Given the description of an element on the screen output the (x, y) to click on. 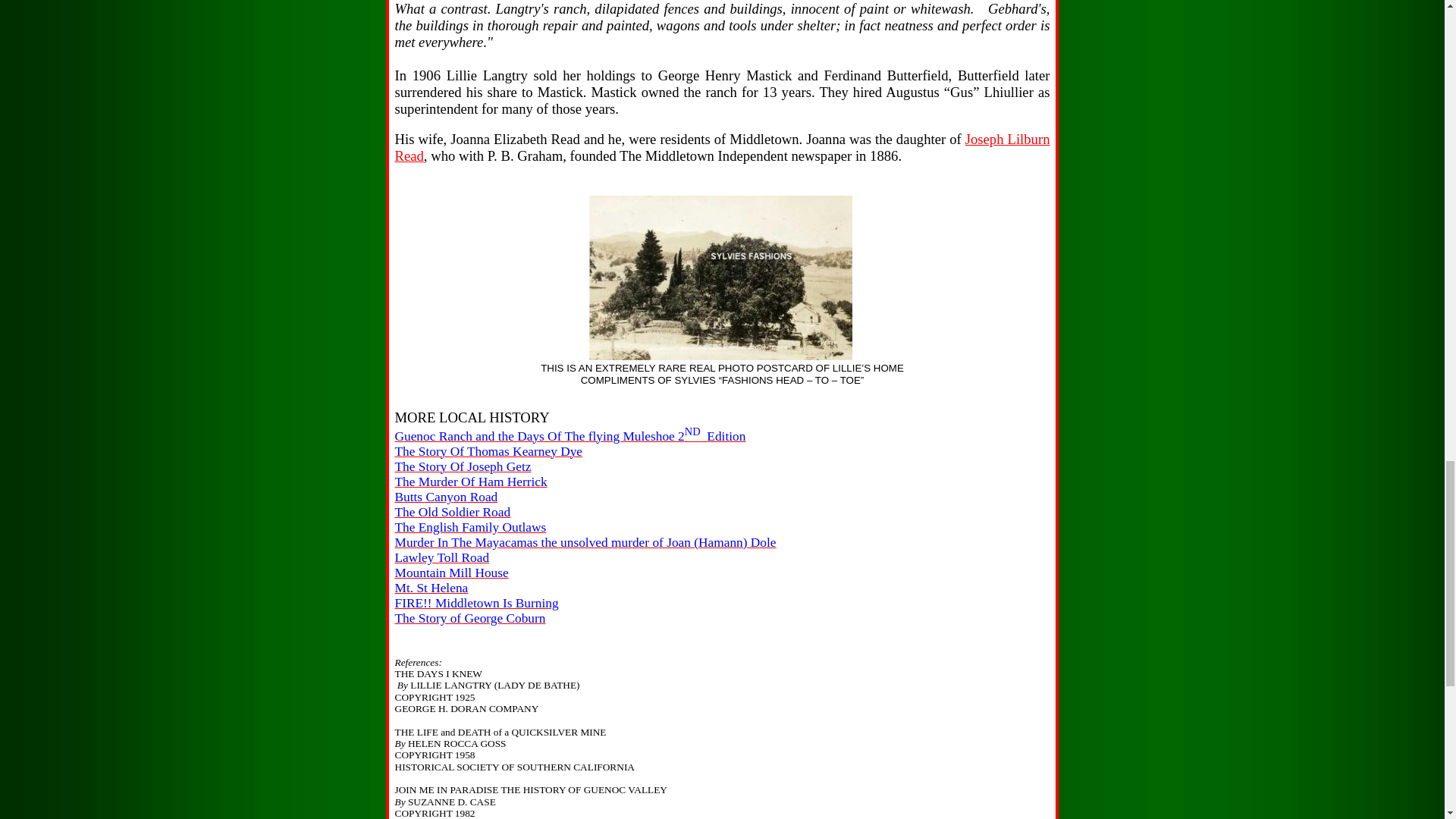
Butts Canyon Road (445, 496)
Lawley Toll Road (441, 557)
The Old Soldier Road (452, 512)
The Murder Of Ham Herrick (470, 481)
FIRE!! Middletown Is Burning (475, 603)
The Story Of Joseph Getz (462, 467)
The Story Of Thomas Kearney Dye (488, 451)
Mountain Mill House (451, 572)
Joseph Lilburn Read (721, 147)
The Story of George Coburn (469, 617)
The English Family Outlaws (470, 527)
Mt. St Helena (430, 587)
